Given the description of an element on the screen output the (x, y) to click on. 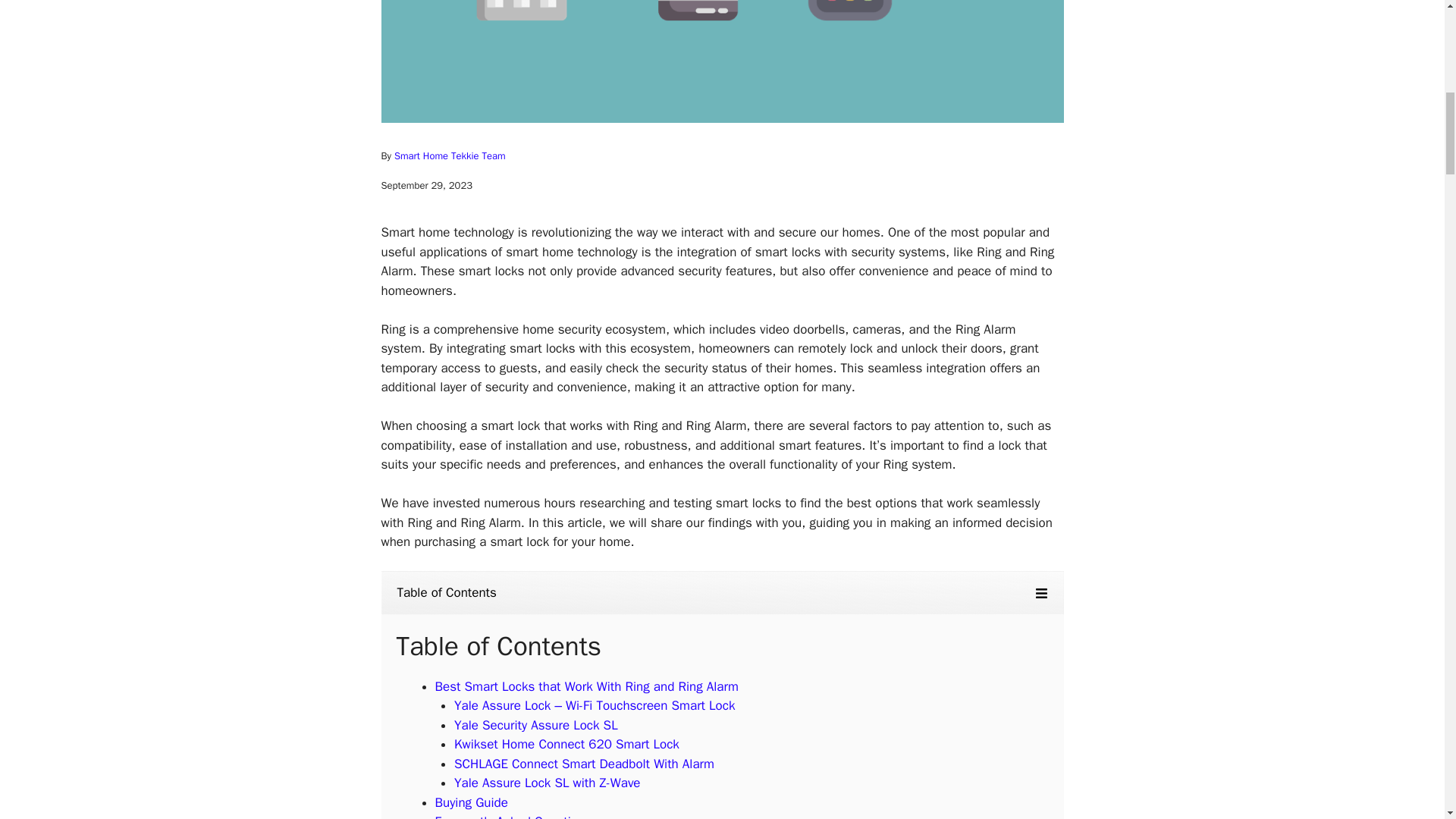
Best Smart Locks that Work With Ring and Ring Alarm (586, 686)
Smart Locks That Work With Ring July 26, 2024 (721, 61)
Table of Contents (721, 592)
Yale Security Assure Lock SL (535, 725)
Smart Home Tekkie Team (449, 155)
